Given the description of an element on the screen output the (x, y) to click on. 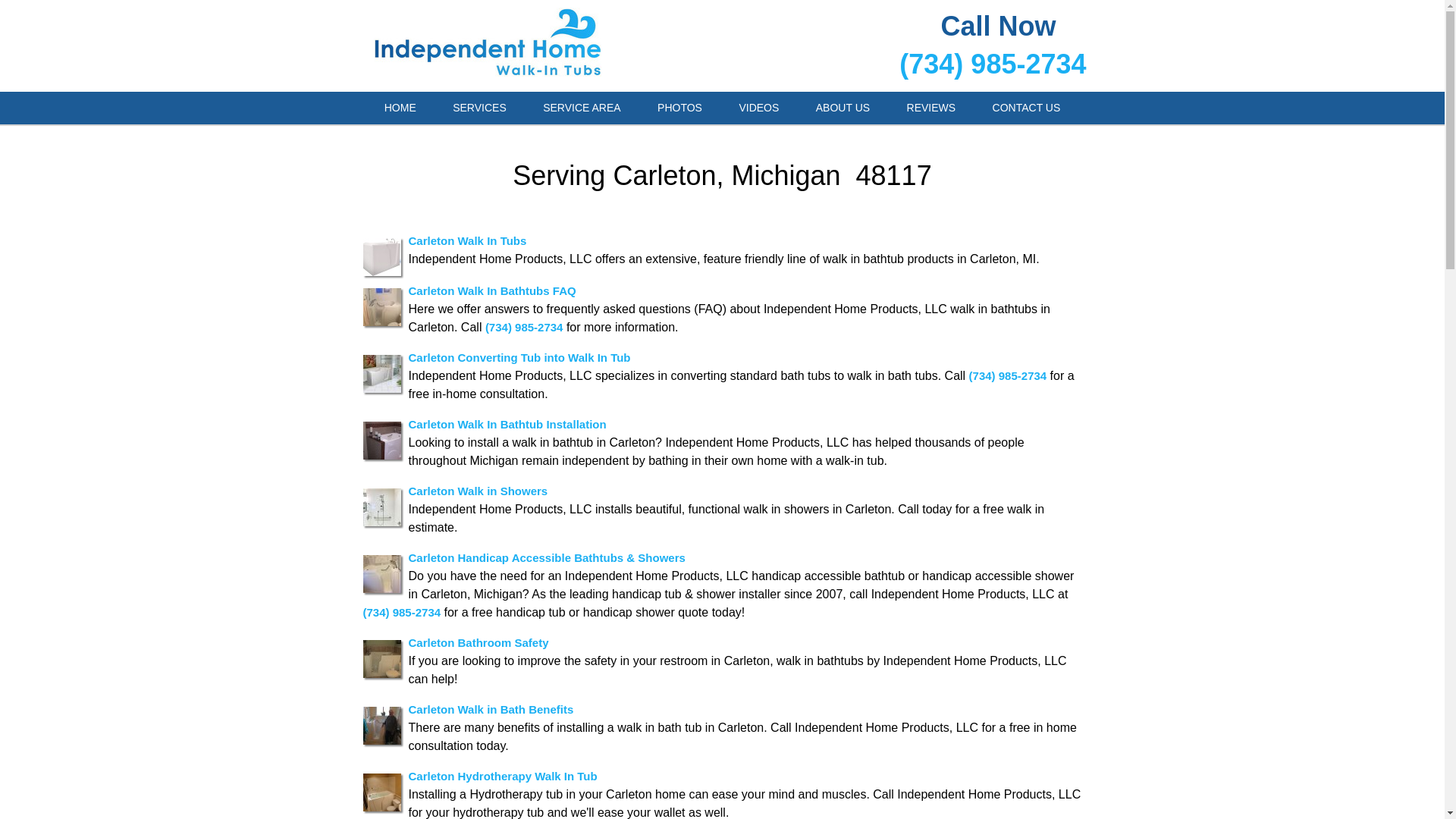
Carleton Walk in Showers (477, 490)
HOME (400, 107)
SERVICES (478, 107)
Carleton Walk in Bath Benefits (490, 707)
SERVICE AREA (581, 107)
Carleton Bathroom Safety (477, 641)
ABOUT US (842, 107)
REVIEWS (930, 107)
Carleton Walk In Bathtub Installation (506, 422)
VIDEOS (758, 107)
